Given the description of an element on the screen output the (x, y) to click on. 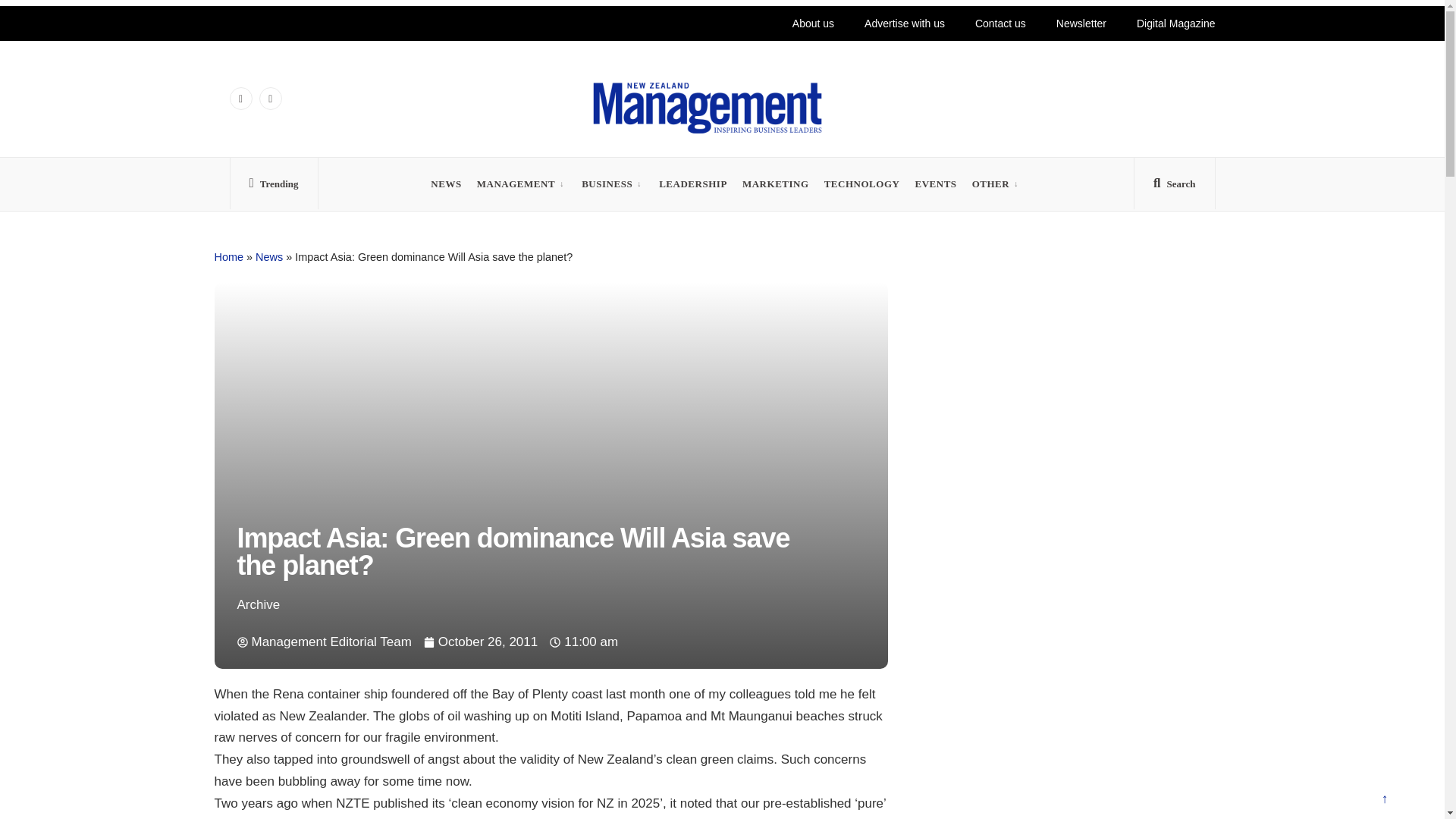
Newsletter (1081, 22)
Scroll to top (1384, 800)
About us (795, 22)
Trending (273, 186)
Contact us (997, 22)
BUSINESS (605, 183)
EVENTS (935, 183)
Digital Magazine (1175, 22)
NEWS (445, 183)
MARKETING (775, 183)
